Given the description of an element on the screen output the (x, y) to click on. 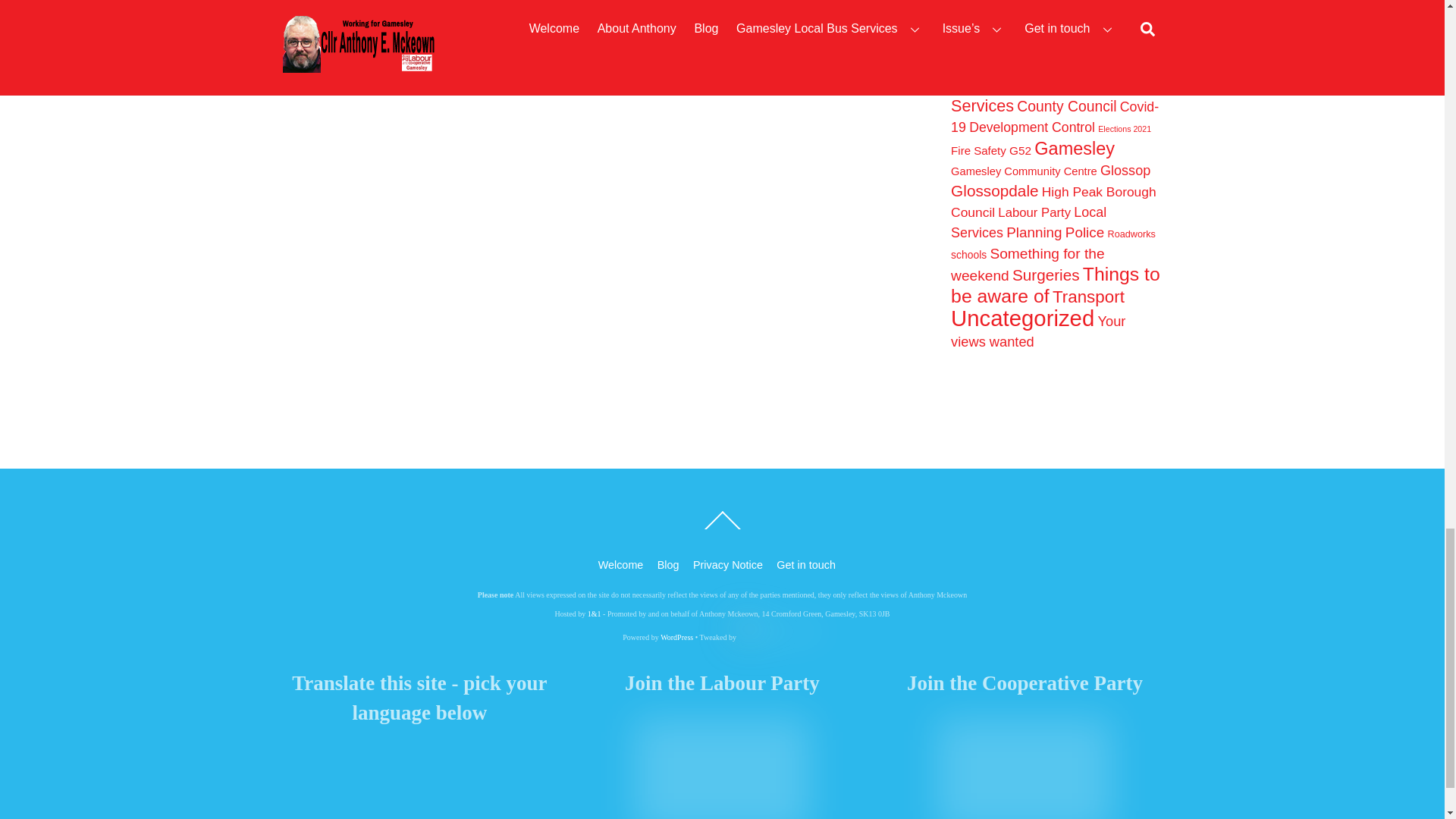
Join the Cooperative Party (1024, 766)
Join the Labour Party (721, 766)
